Given the description of an element on the screen output the (x, y) to click on. 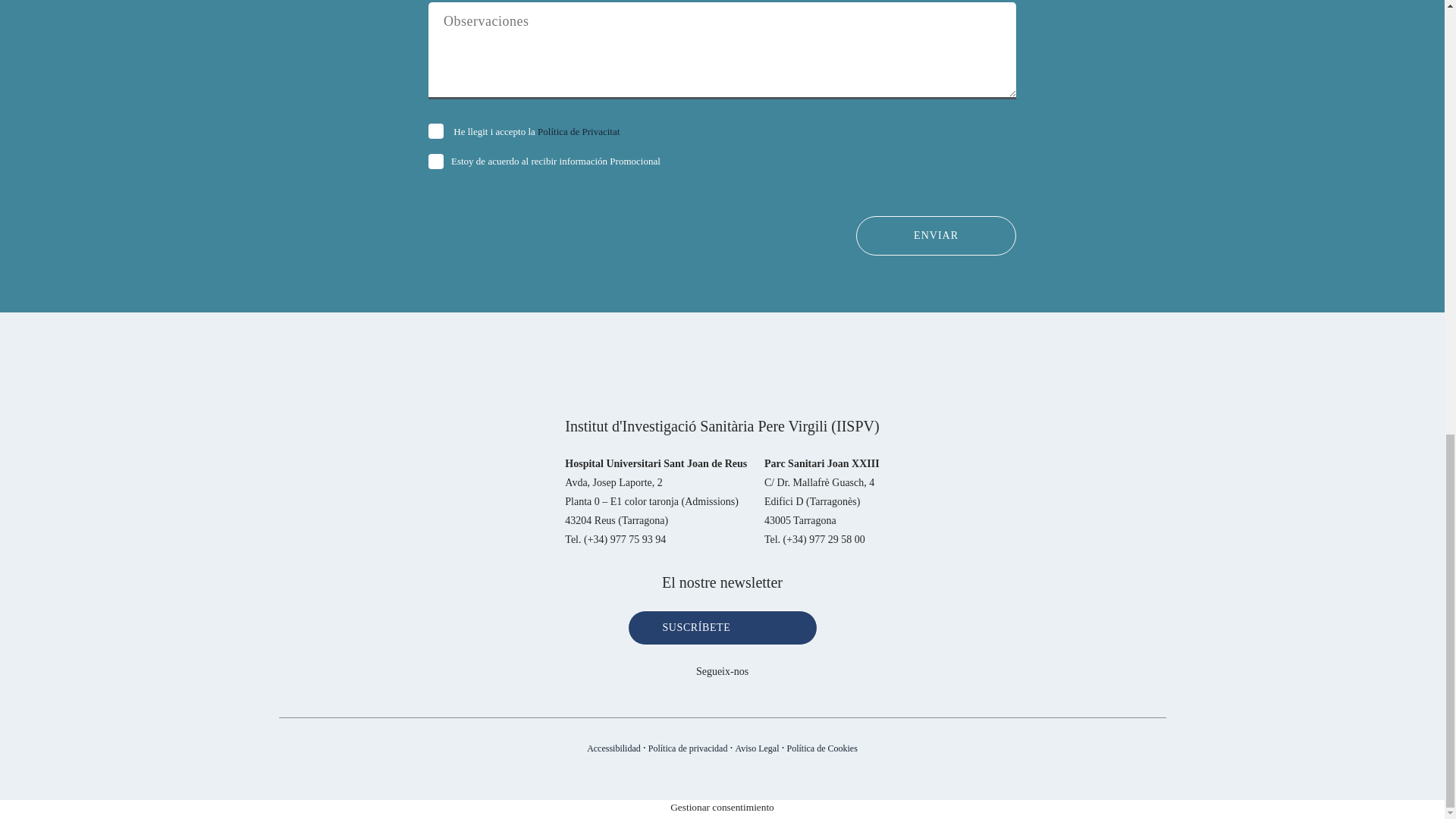
ENVIAR (936, 235)
